Given the description of an element on the screen output the (x, y) to click on. 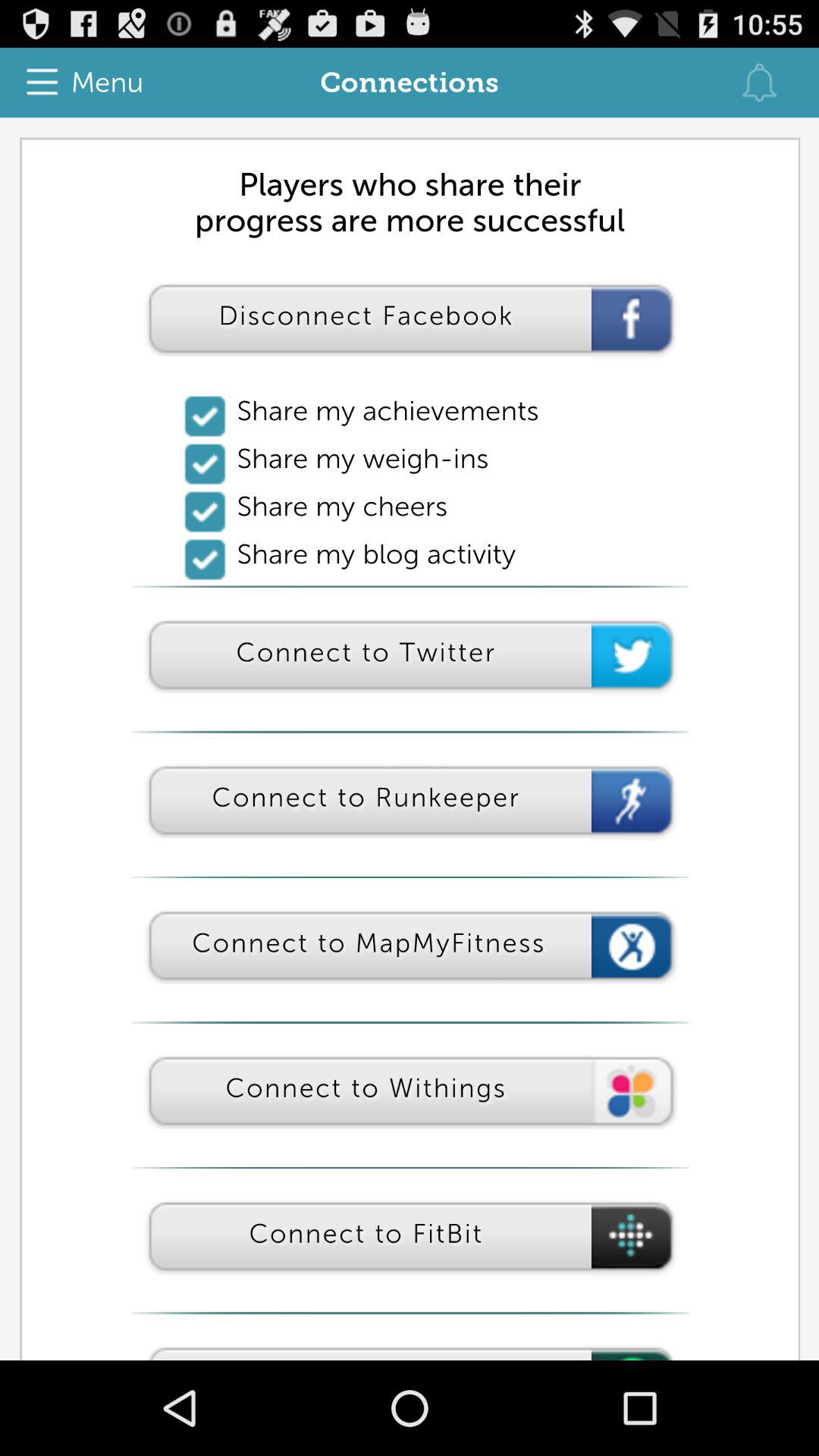
for adverisment (409, 738)
